Given the description of an element on the screen output the (x, y) to click on. 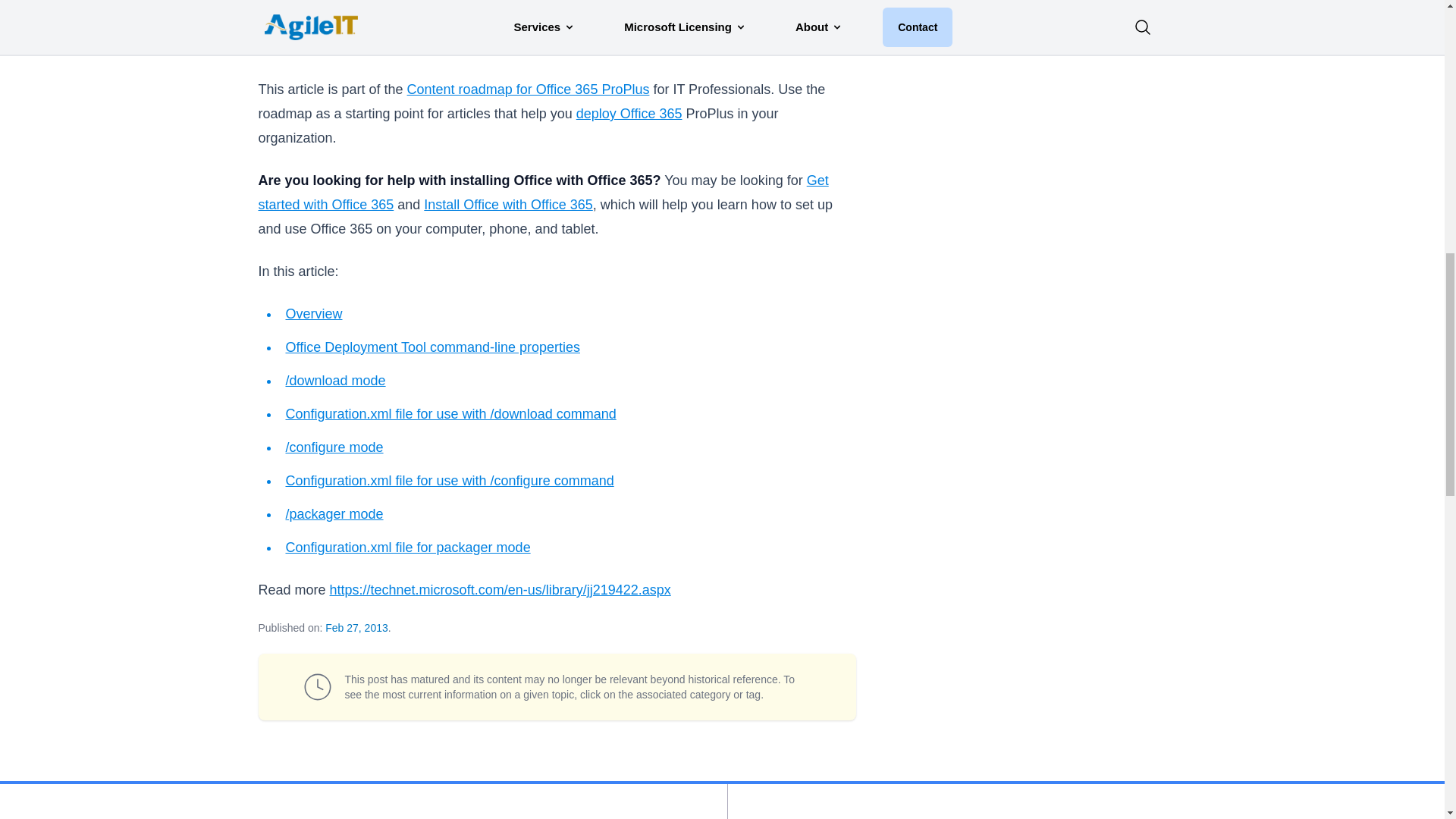
Install Office with Office 365 (507, 204)
Office Deployment Tool command-line properties (432, 346)
deploy Office 365 (629, 113)
Overview (313, 313)
Get started with Office 365 (542, 192)
Content roadmap for Office 365 ProPlus (528, 89)
